Given the description of an element on the screen output the (x, y) to click on. 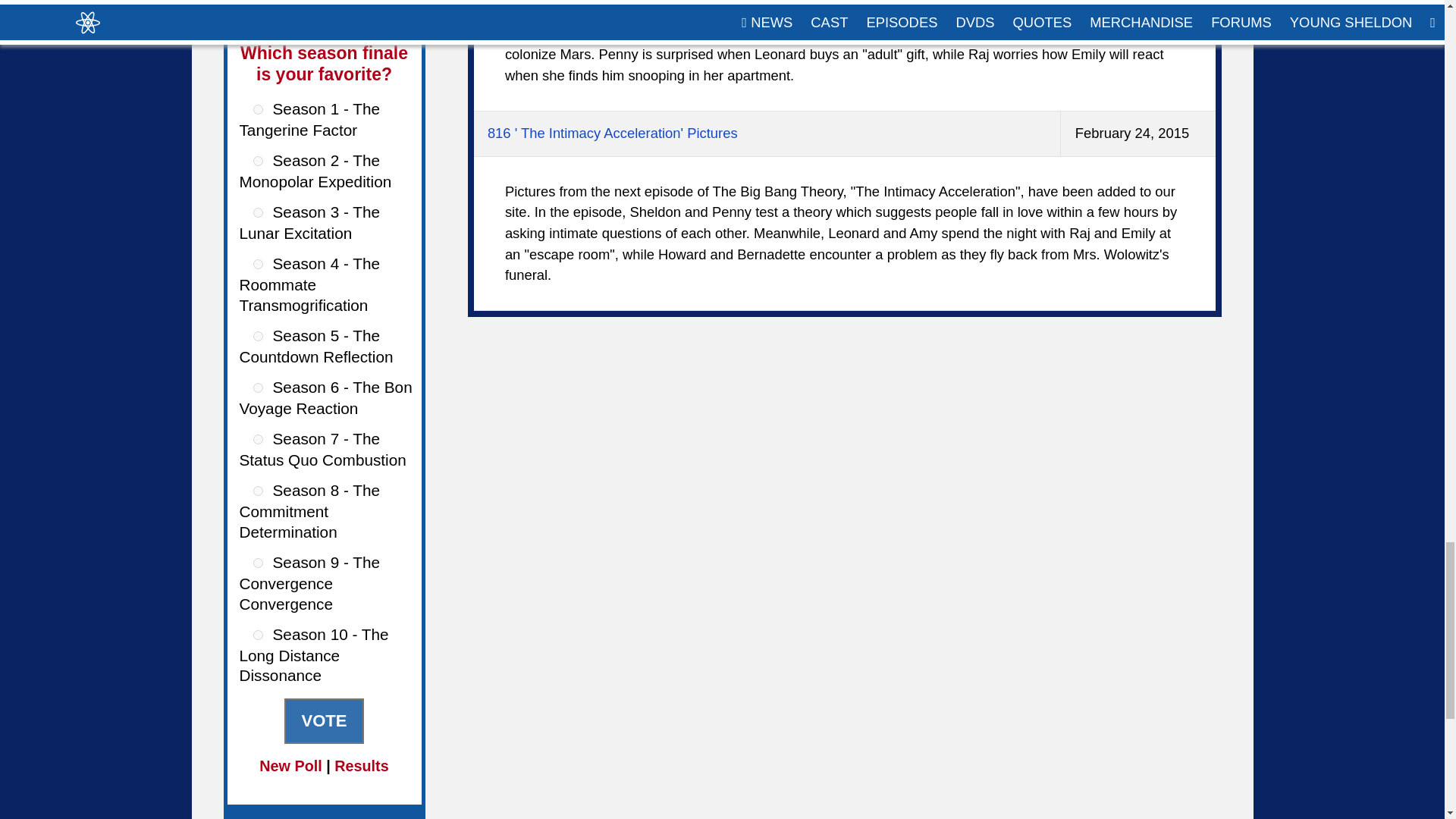
10 (258, 634)
3 (258, 212)
2 (258, 161)
7 (258, 439)
5 (258, 336)
4 (258, 264)
9 (258, 562)
1 (258, 109)
Vote (322, 720)
6 (258, 388)
8 (258, 491)
